Given the description of an element on the screen output the (x, y) to click on. 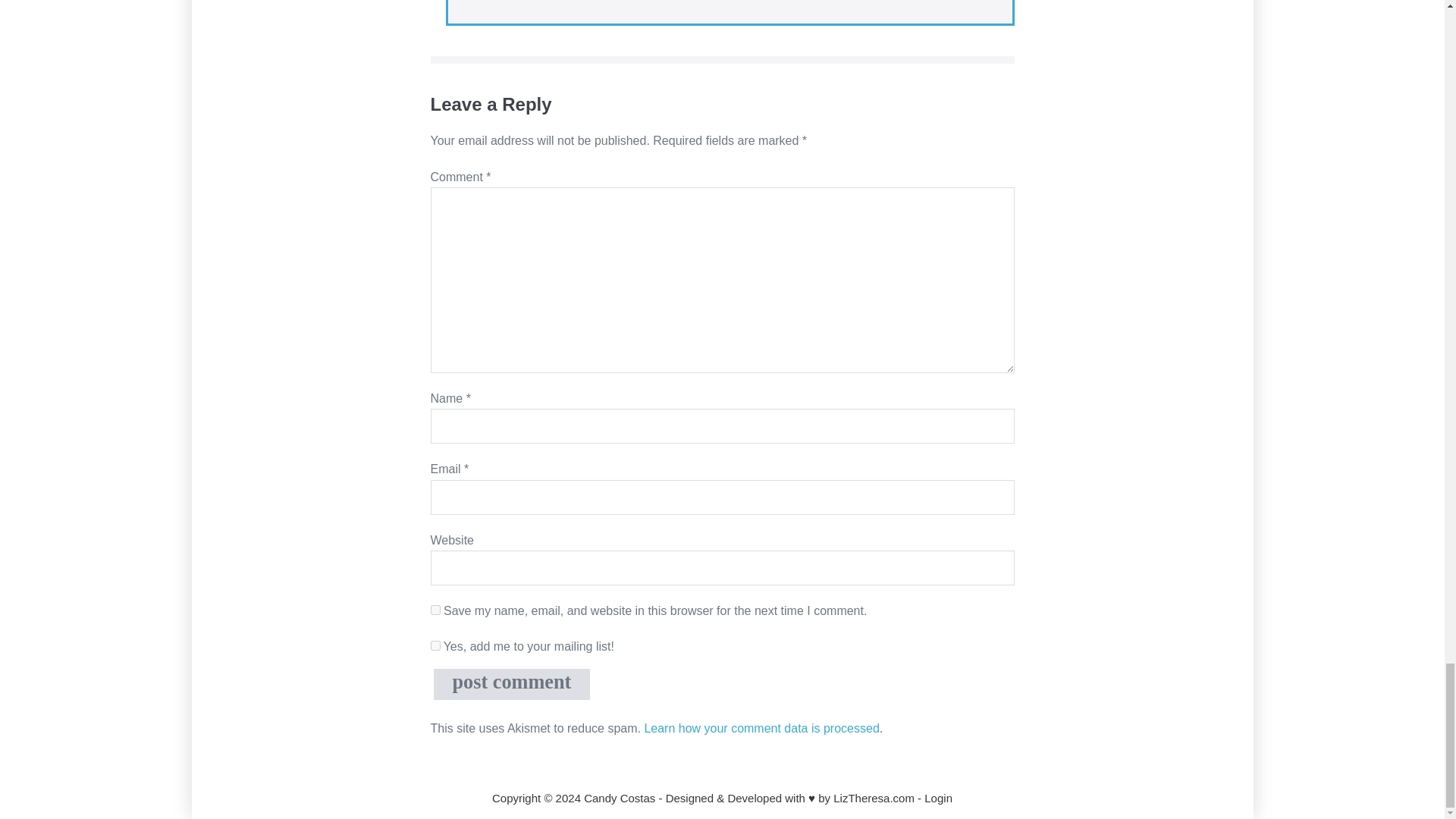
Login (938, 797)
Reply (482, 2)
Post Comment (512, 684)
LizTheresa.com (873, 797)
yes (435, 610)
Learn how your comment data is processed (761, 727)
Post Comment (512, 684)
1 (435, 645)
